Given the description of an element on the screen output the (x, y) to click on. 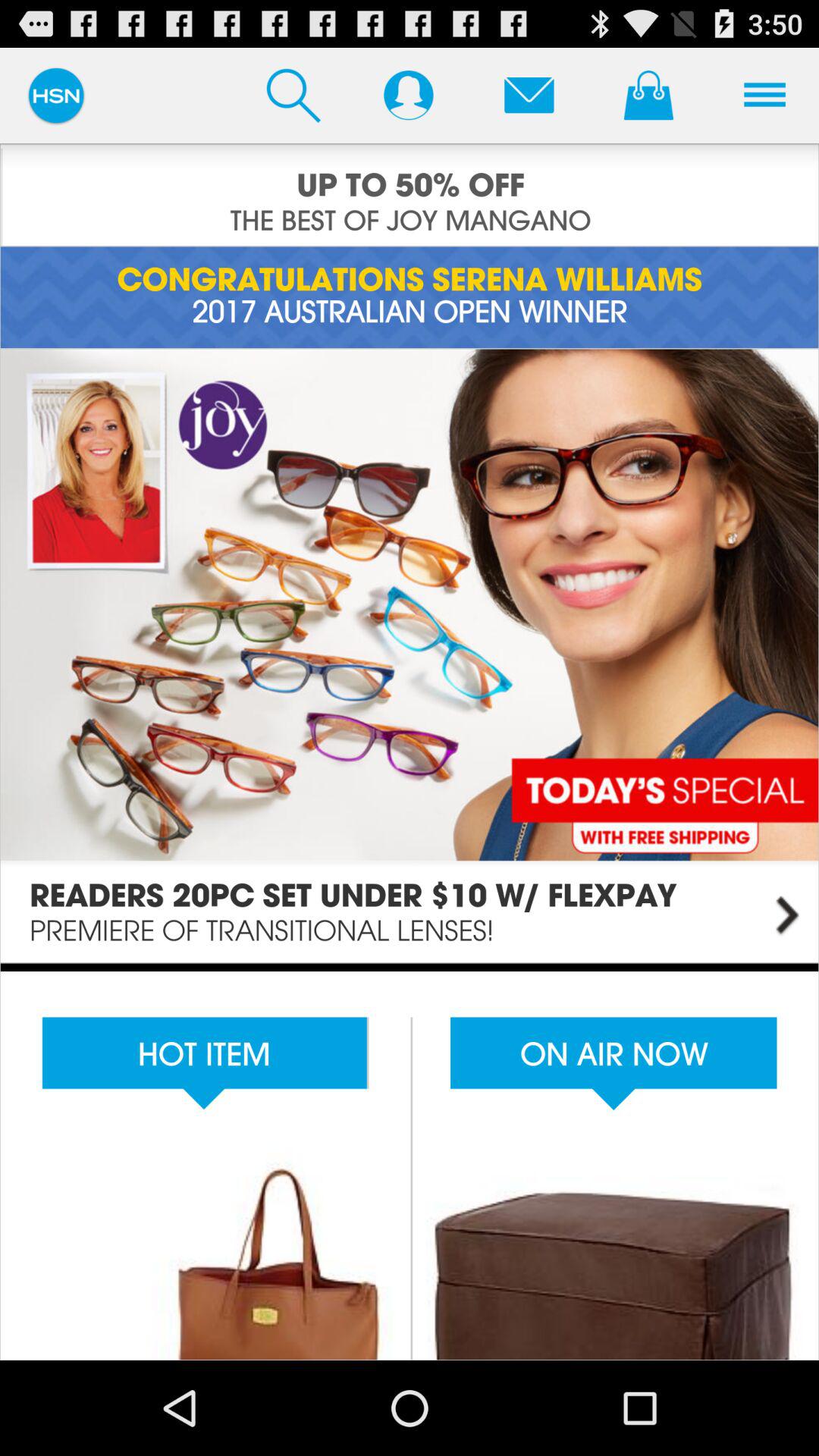
open shopping kart (648, 95)
